Given the description of an element on the screen output the (x, y) to click on. 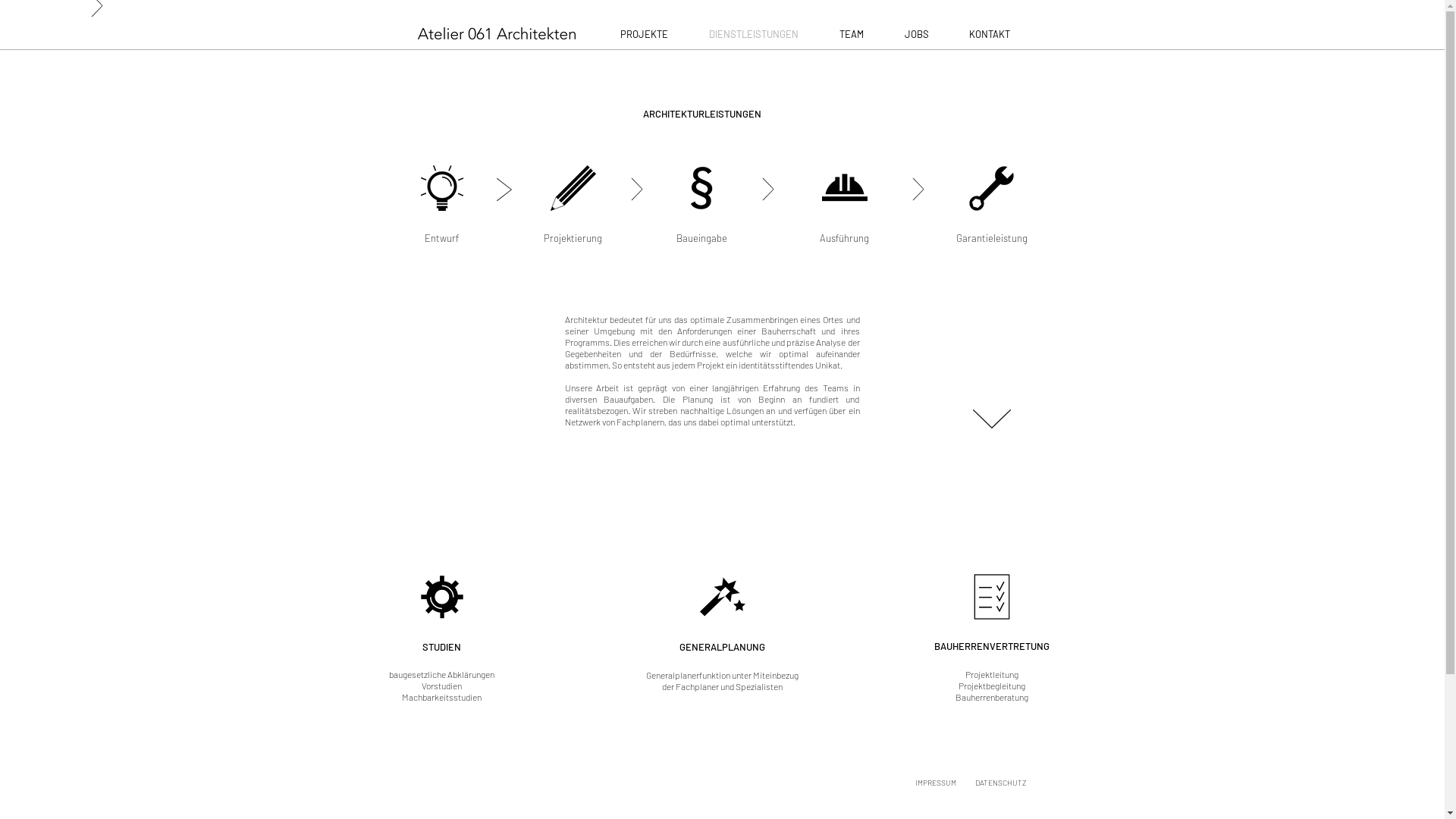
KONTAKT Element type: text (989, 34)
TEAM Element type: text (851, 34)
DATENSCHUTZ Element type: text (1000, 783)
IMPRESSUM Element type: text (934, 783)
PROJEKTE Element type: text (643, 34)
wecreate Element type: hover (495, 33)
JOBS Element type: text (916, 34)
DIENSTLEISTUNGEN Element type: text (753, 34)
